Given the description of an element on the screen output the (x, y) to click on. 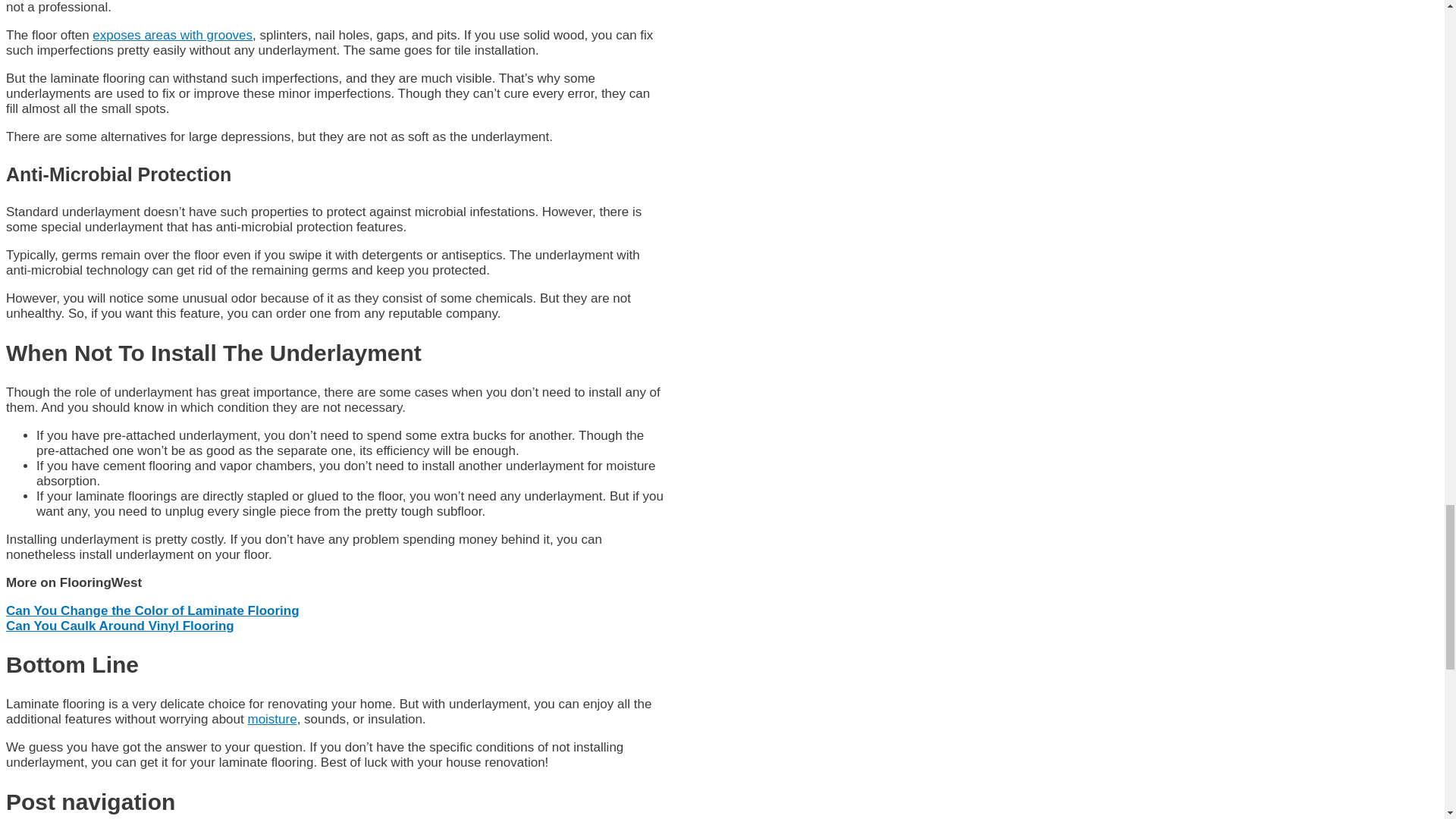
moisture (272, 718)
Can You Caulk Around Vinyl Flooring (119, 626)
exposes areas with grooves (172, 34)
Can You Change the Color of Laminate Flooring (152, 610)
